Given the description of an element on the screen output the (x, y) to click on. 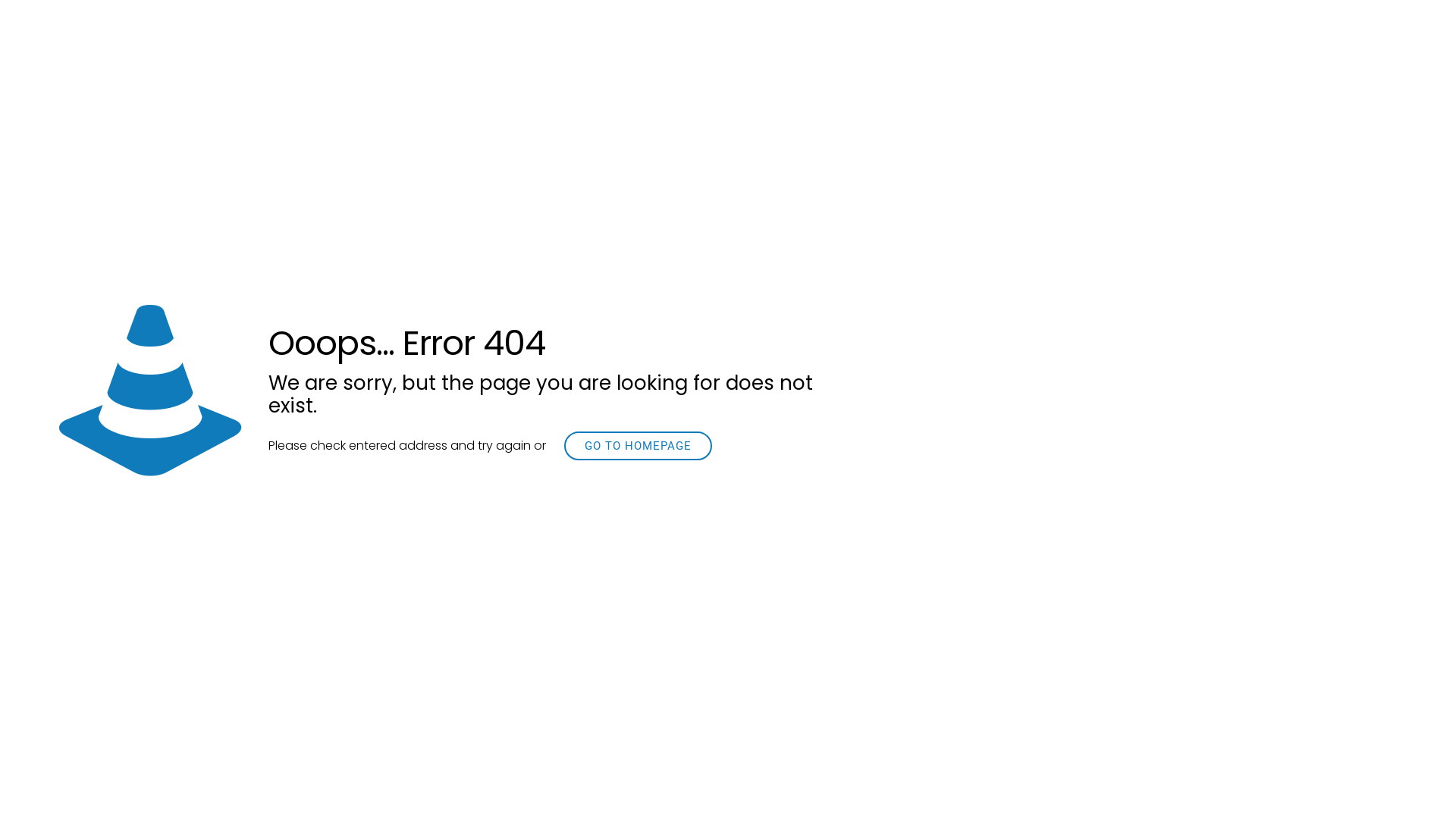
GO TO HOMEPAGE Element type: text (638, 445)
